Given the description of an element on the screen output the (x, y) to click on. 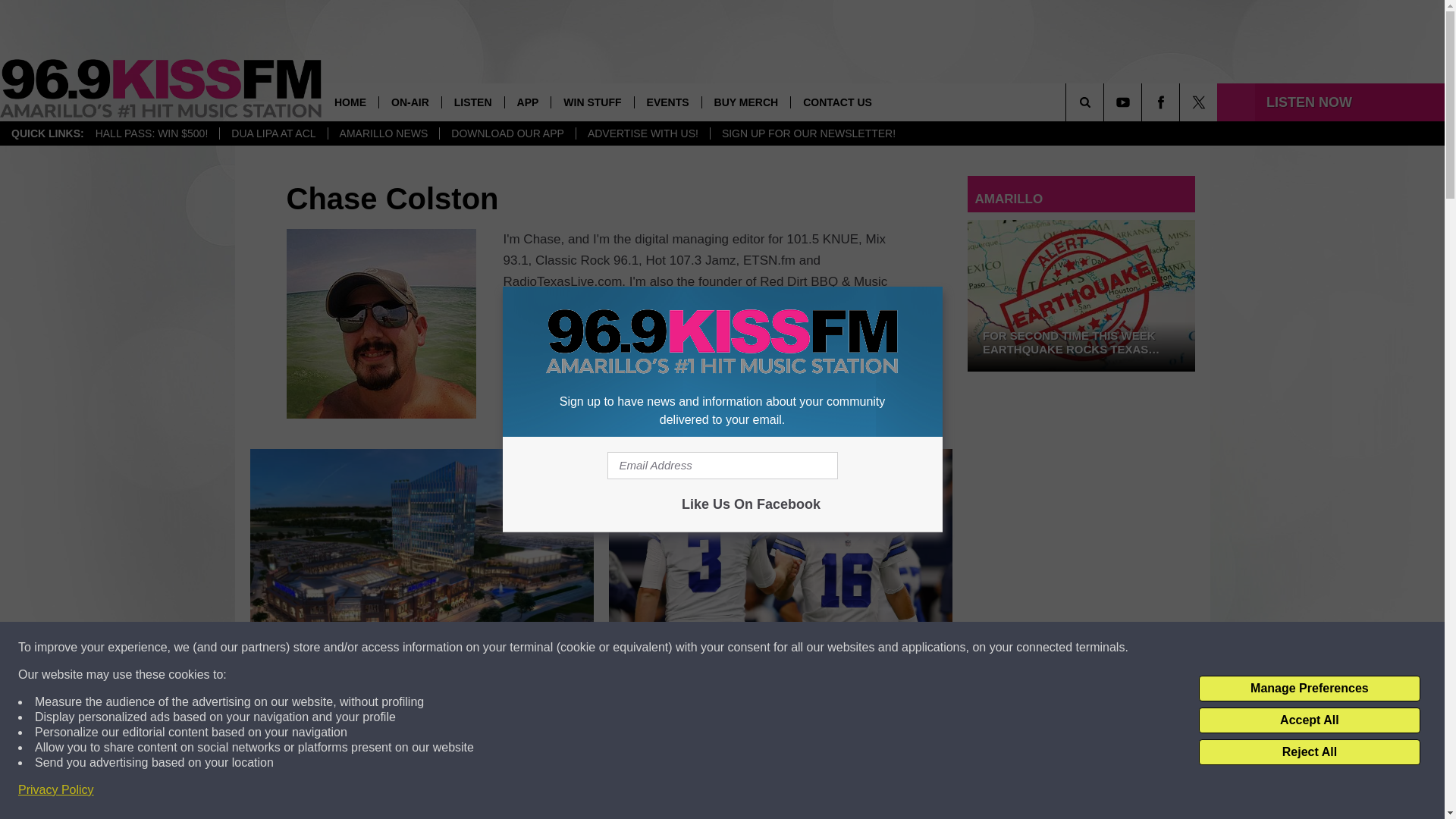
SEARCH (1106, 102)
DUA LIPA AT ACL (272, 133)
ADVERTISE WITH US! (642, 133)
DOWNLOAD OUR APP (507, 133)
ON-AIR (409, 102)
Accept All (1309, 720)
Email Address (722, 465)
EVENTS (667, 102)
APP (527, 102)
Privacy Policy (55, 789)
SIGN UP FOR OUR NEWSLETTER! (808, 133)
CONTACT US (836, 102)
LISTEN (472, 102)
Manage Preferences (1309, 688)
HOME (349, 102)
